Given the description of an element on the screen output the (x, y) to click on. 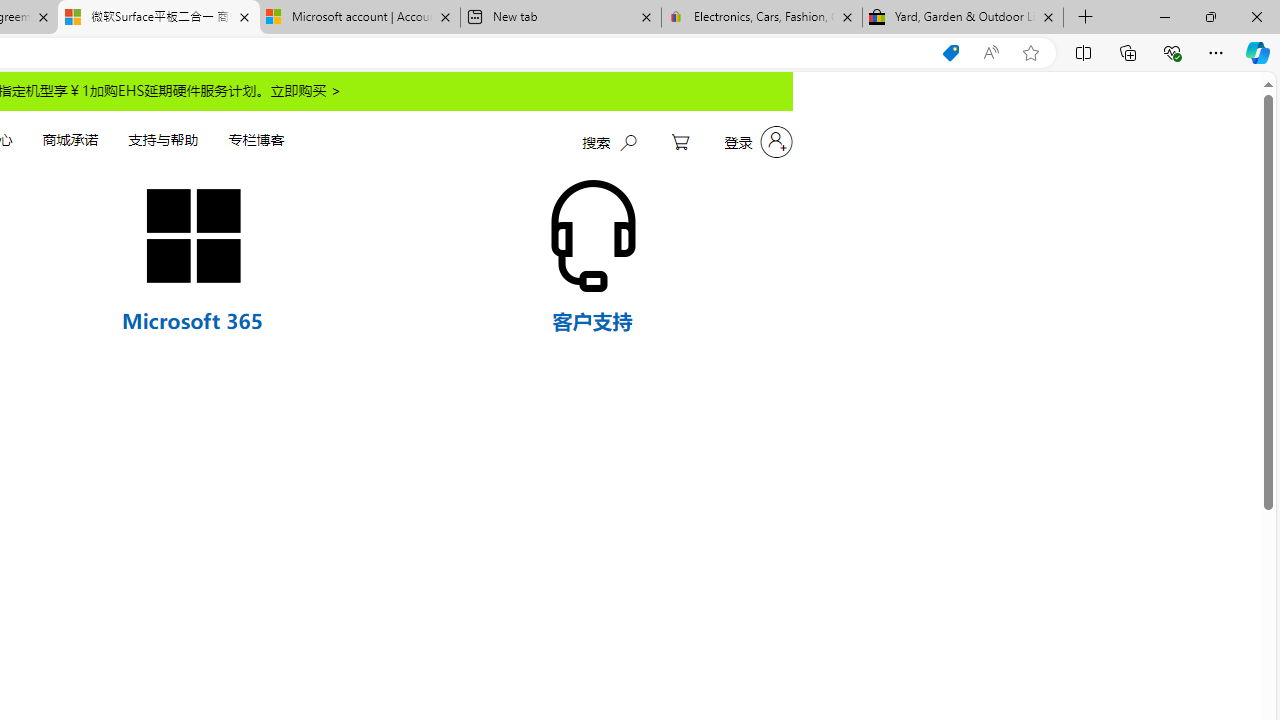
Collections (1128, 52)
Microsoft 365 (191, 320)
Close (1256, 16)
Yard, Garden & Outdoor Living (962, 17)
Electronics, Cars, Fashion, Collectibles & More | eBay (761, 17)
Shopping in Microsoft Edge (950, 53)
Settings and more (Alt+F) (1215, 52)
New Tab (1085, 17)
Close tab (1048, 16)
Add this page to favorites (Ctrl+D) (1030, 53)
Copilot (Ctrl+Shift+.) (1258, 52)
Minimize (1164, 16)
